Given the description of an element on the screen output the (x, y) to click on. 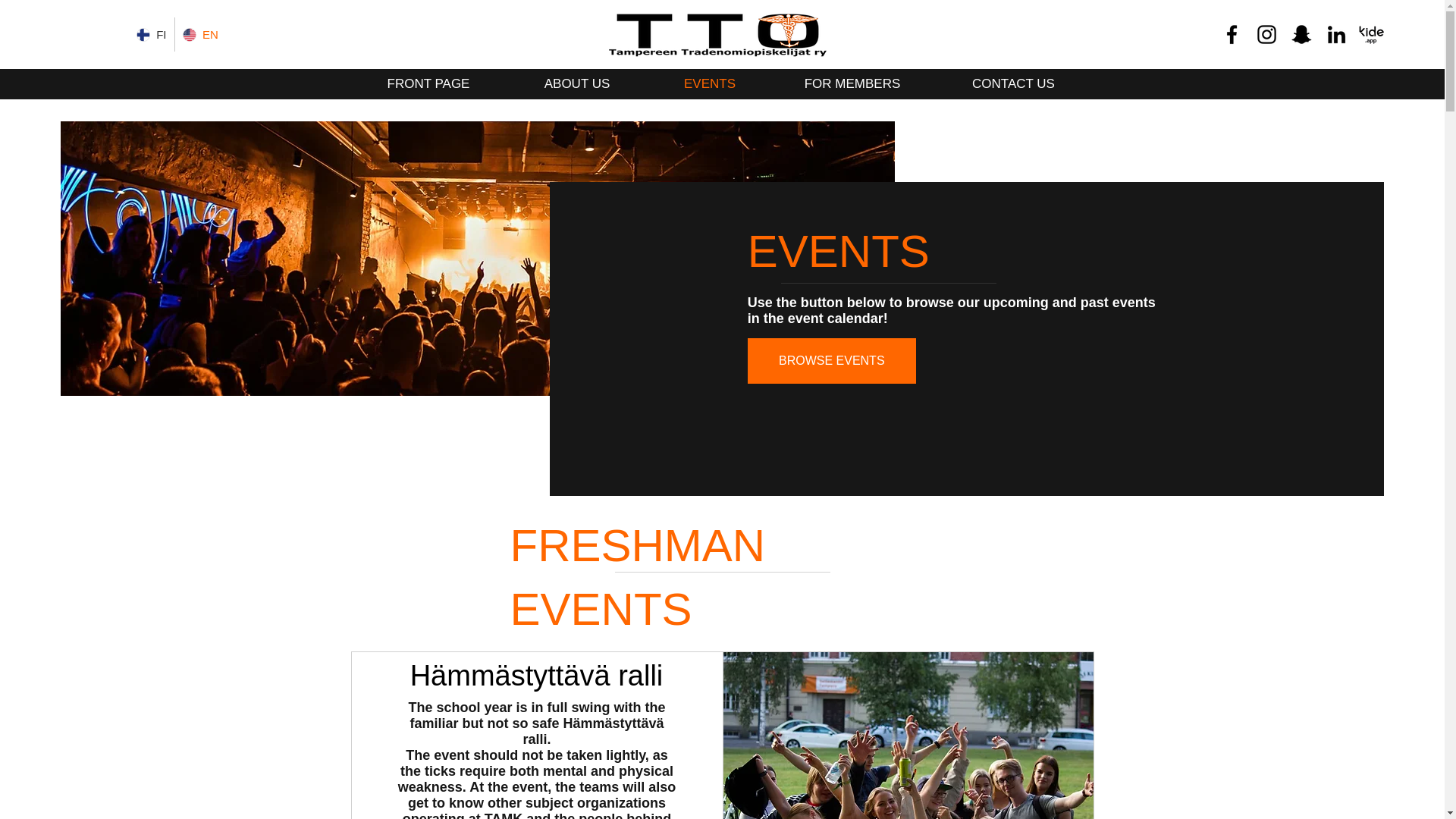
ABOUT US (576, 83)
EVENTS (709, 83)
FI (151, 34)
BROWSE EVENTS (831, 361)
FOR MEMBERS (852, 83)
CONTACT US (1013, 83)
FRONT PAGE (427, 83)
Eye (717, 34)
FRESHMAN EVENTS (637, 577)
EN (199, 34)
